Given the description of an element on the screen output the (x, y) to click on. 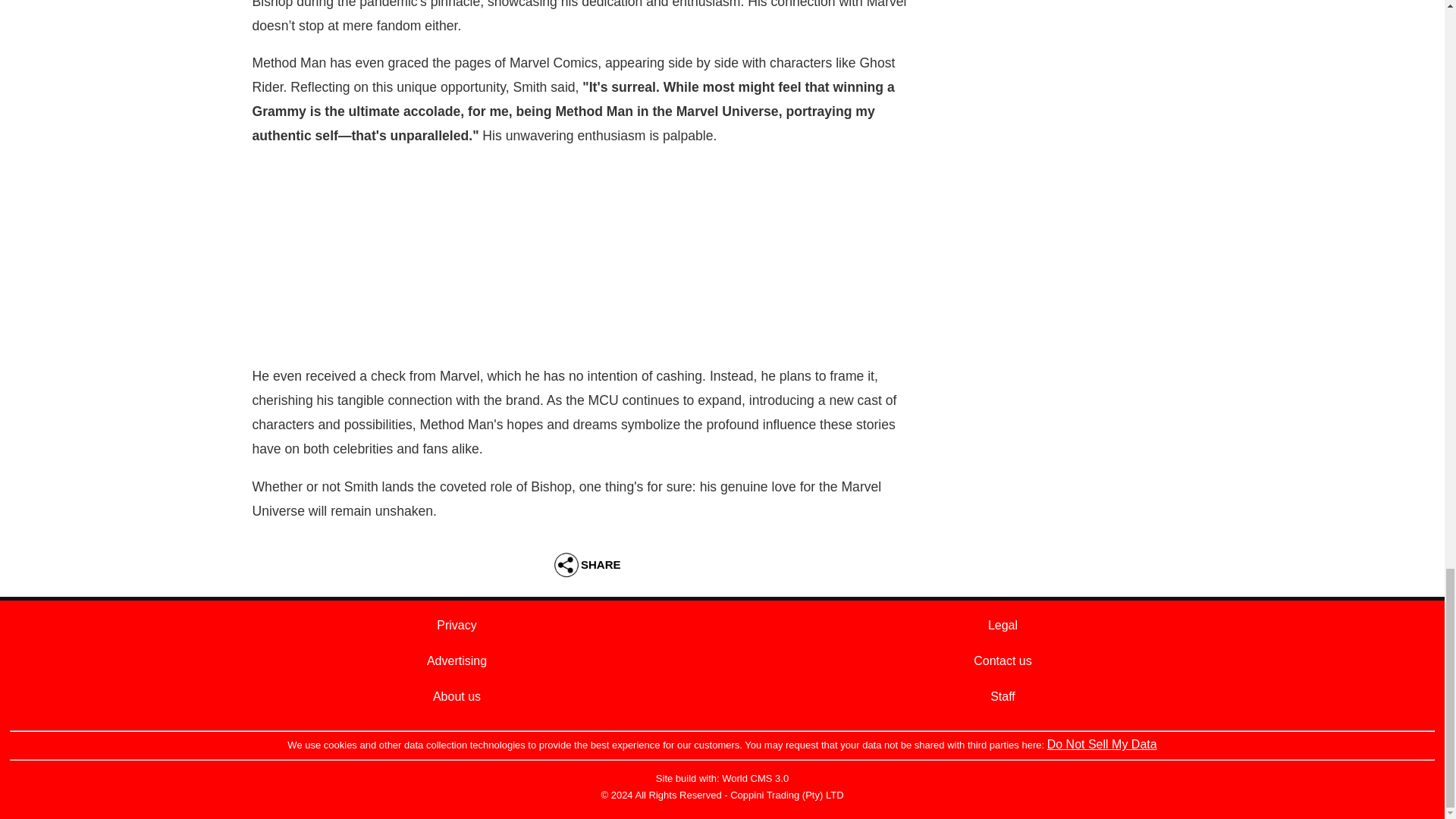
Advertising (456, 660)
Privacy (456, 625)
Contact us (1002, 660)
Legal (1002, 625)
About us (456, 696)
